Given the description of an element on the screen output the (x, y) to click on. 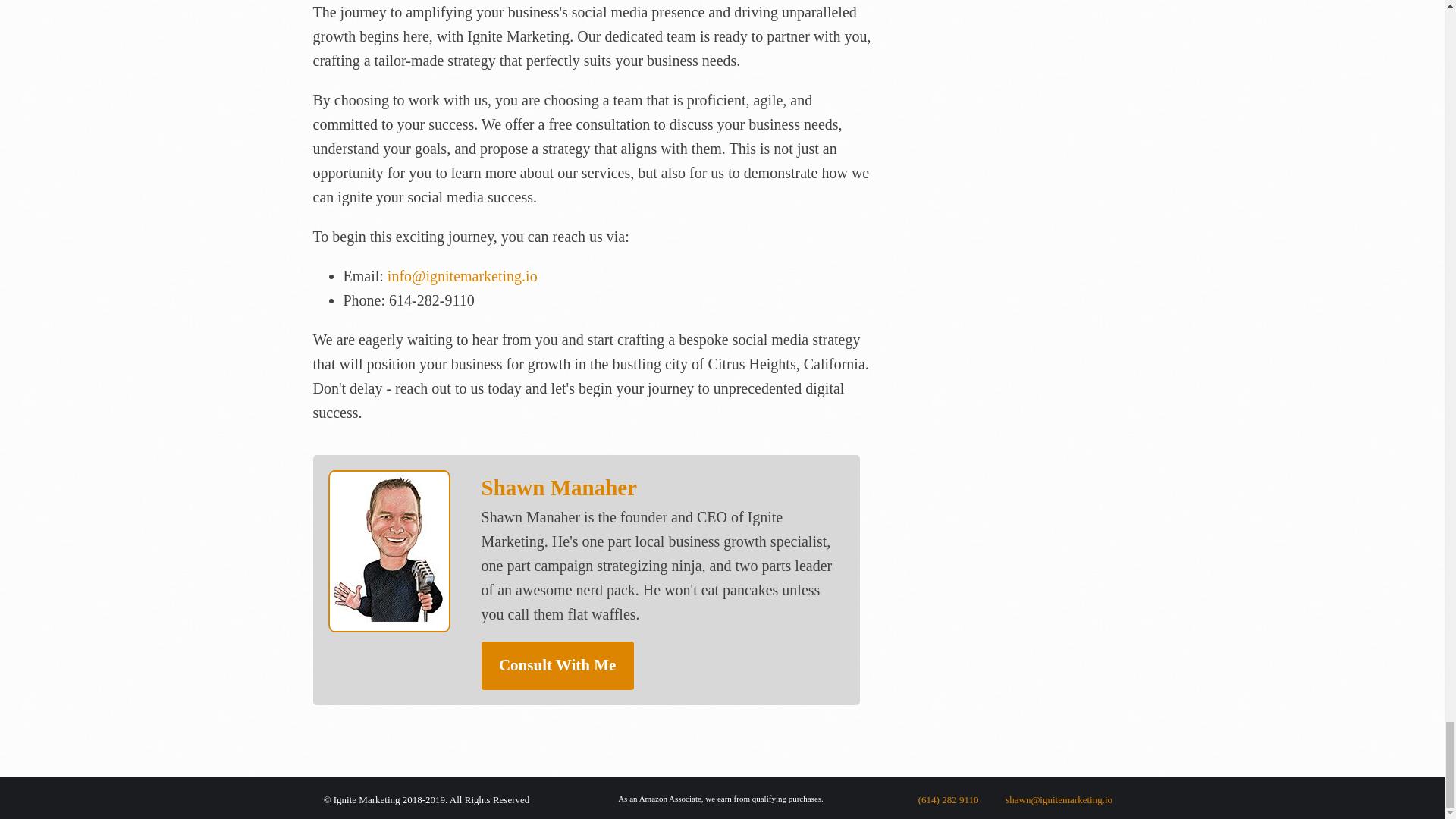
Consult With Me (557, 665)
Shawn Manaher (559, 487)
